Given the description of an element on the screen output the (x, y) to click on. 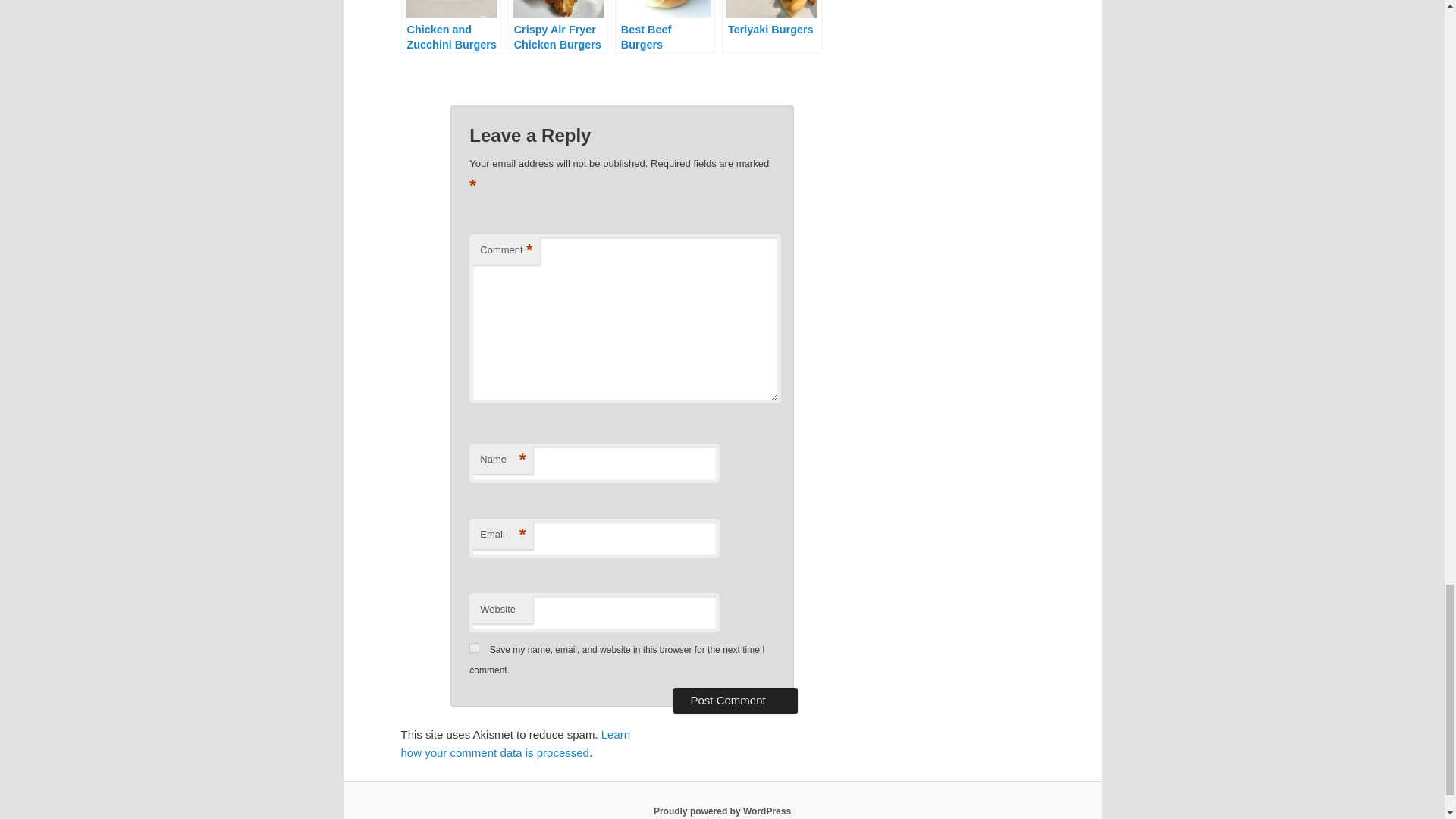
Post Comment (734, 700)
Crispy Air Fryer Chicken Burgers (558, 26)
Semantic Personal Publishing Platform (721, 810)
Teriyaki Burgers (772, 26)
Crispy Air Fryer Chicken Burgers (558, 26)
Chicken and Zucchini Burgers with Creamy Sauce (450, 26)
Learn how your comment data is processed (515, 743)
yes (473, 647)
Best Beef Burgers (664, 26)
Chicken and Zucchini Burgers with Creamy Sauce (450, 26)
Post Comment (734, 700)
Proudly powered by WordPress (721, 810)
Best Beef Burgers (664, 26)
Teriyaki Burgers (772, 26)
